Given the description of an element on the screen output the (x, y) to click on. 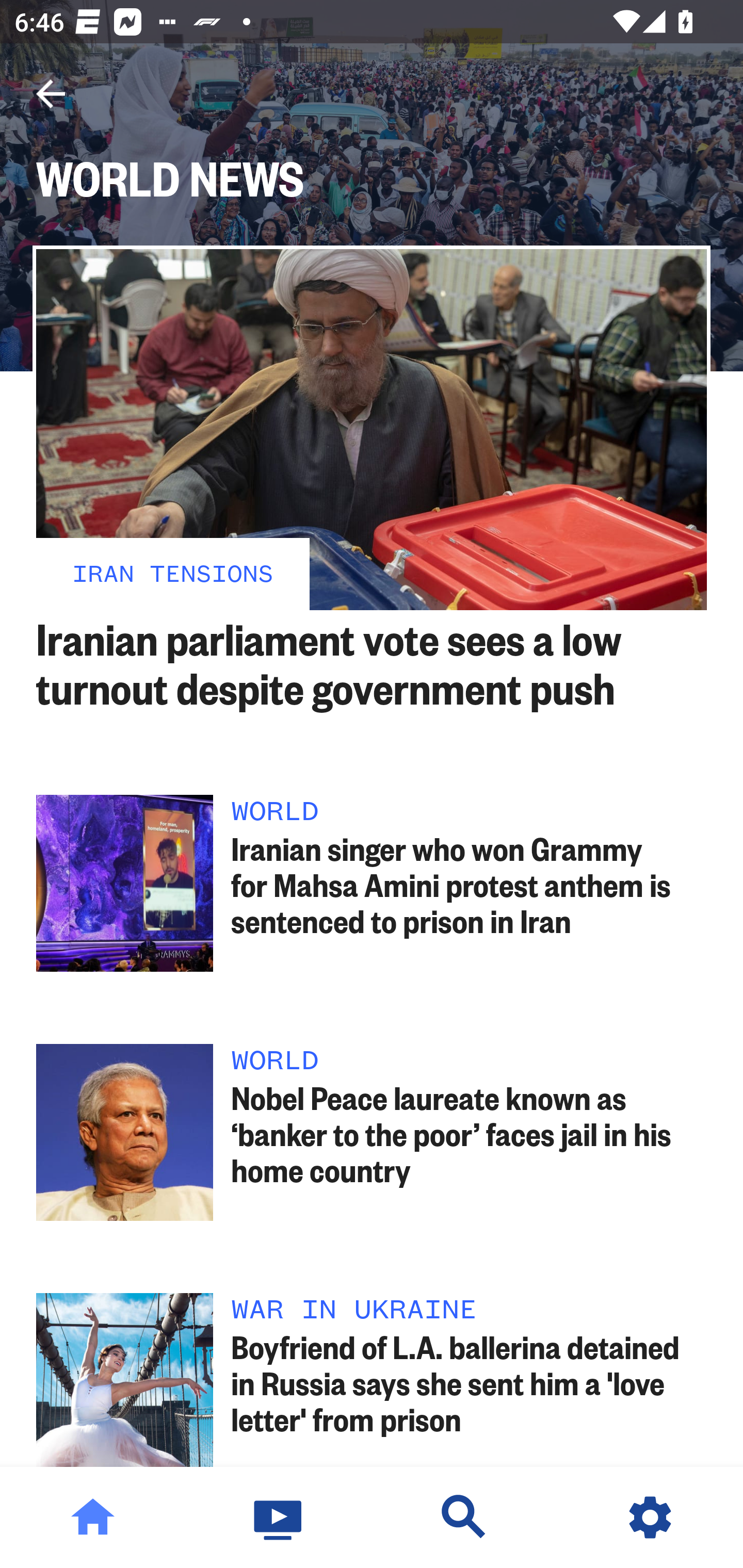
Navigate up (50, 93)
Watch (278, 1517)
Discover (464, 1517)
Settings (650, 1517)
